Given the description of an element on the screen output the (x, y) to click on. 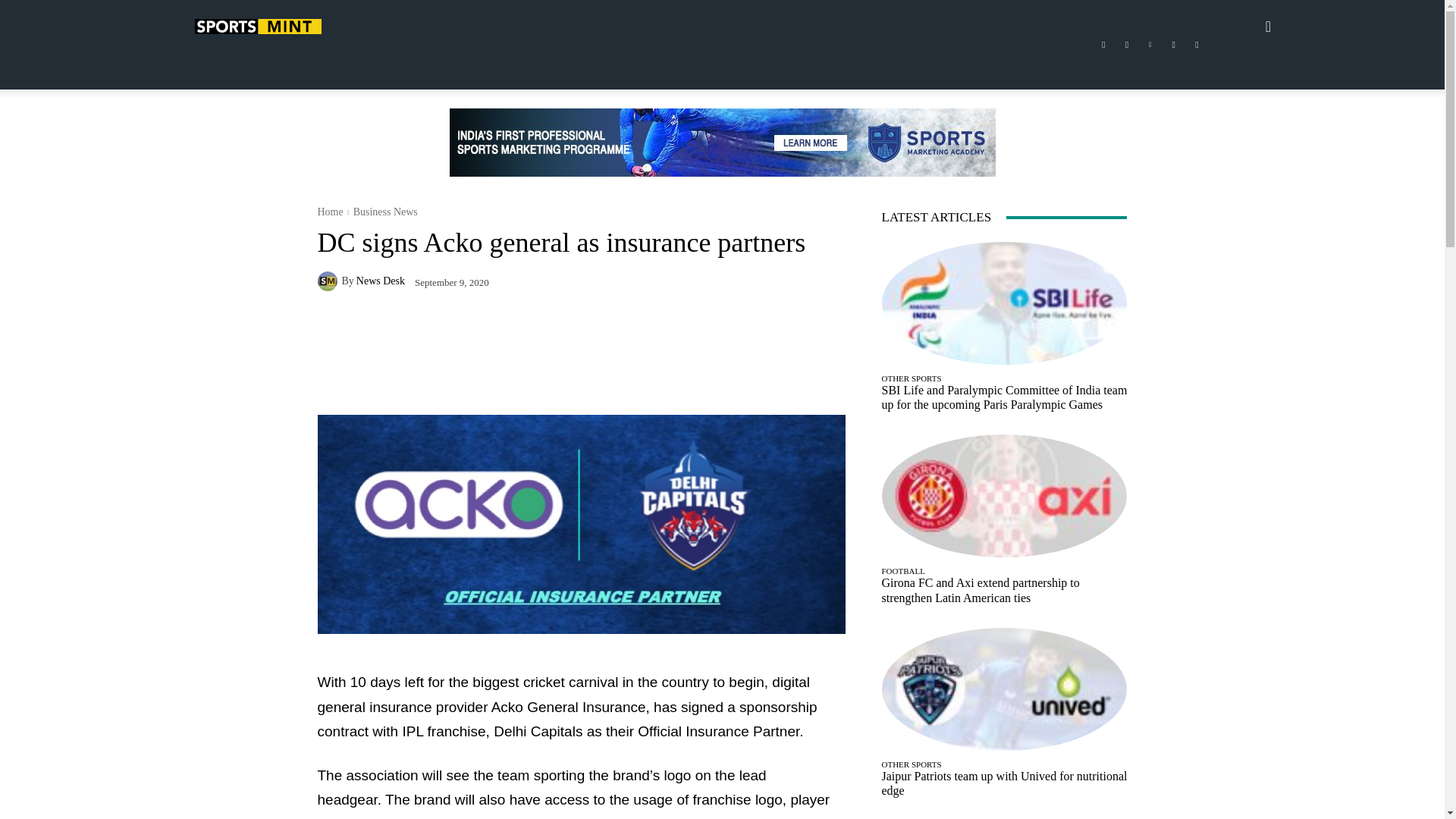
Linkedin (1149, 45)
Facebook (1103, 45)
Instagram (1126, 45)
SportsMint Media (256, 25)
